Given the description of an element on the screen output the (x, y) to click on. 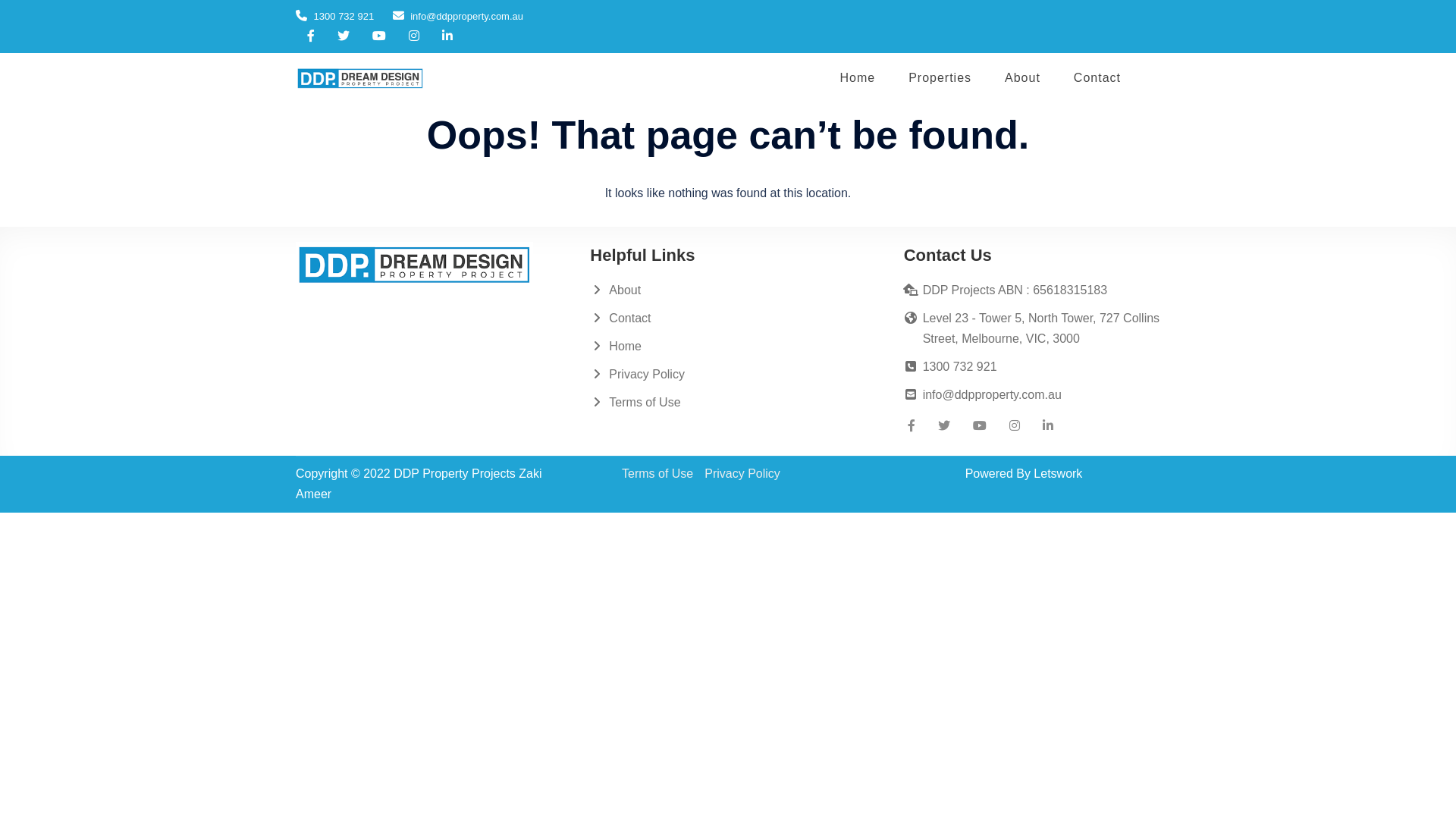
About Element type: text (1022, 78)
info@ddpproperty.com.au Element type: text (457, 15)
Privacy Policy Element type: text (646, 373)
Letswork Element type: text (1057, 473)
About Element type: text (624, 289)
Terms of Use Element type: text (657, 473)
Home Element type: text (624, 345)
1300 732 921 Element type: text (334, 15)
DDP Projects ABN : 65618315183 Element type: text (1014, 289)
Privacy Policy Element type: text (742, 473)
Terms of Use Element type: text (644, 401)
Home Element type: text (857, 78)
Properties Element type: text (939, 78)
info@ddpproperty.com.au Element type: text (991, 394)
Skip to content Element type: text (0, 53)
Contact Element type: text (629, 317)
Contact Element type: text (1096, 78)
1300 732 921 Element type: text (959, 366)
